Given the description of an element on the screen output the (x, y) to click on. 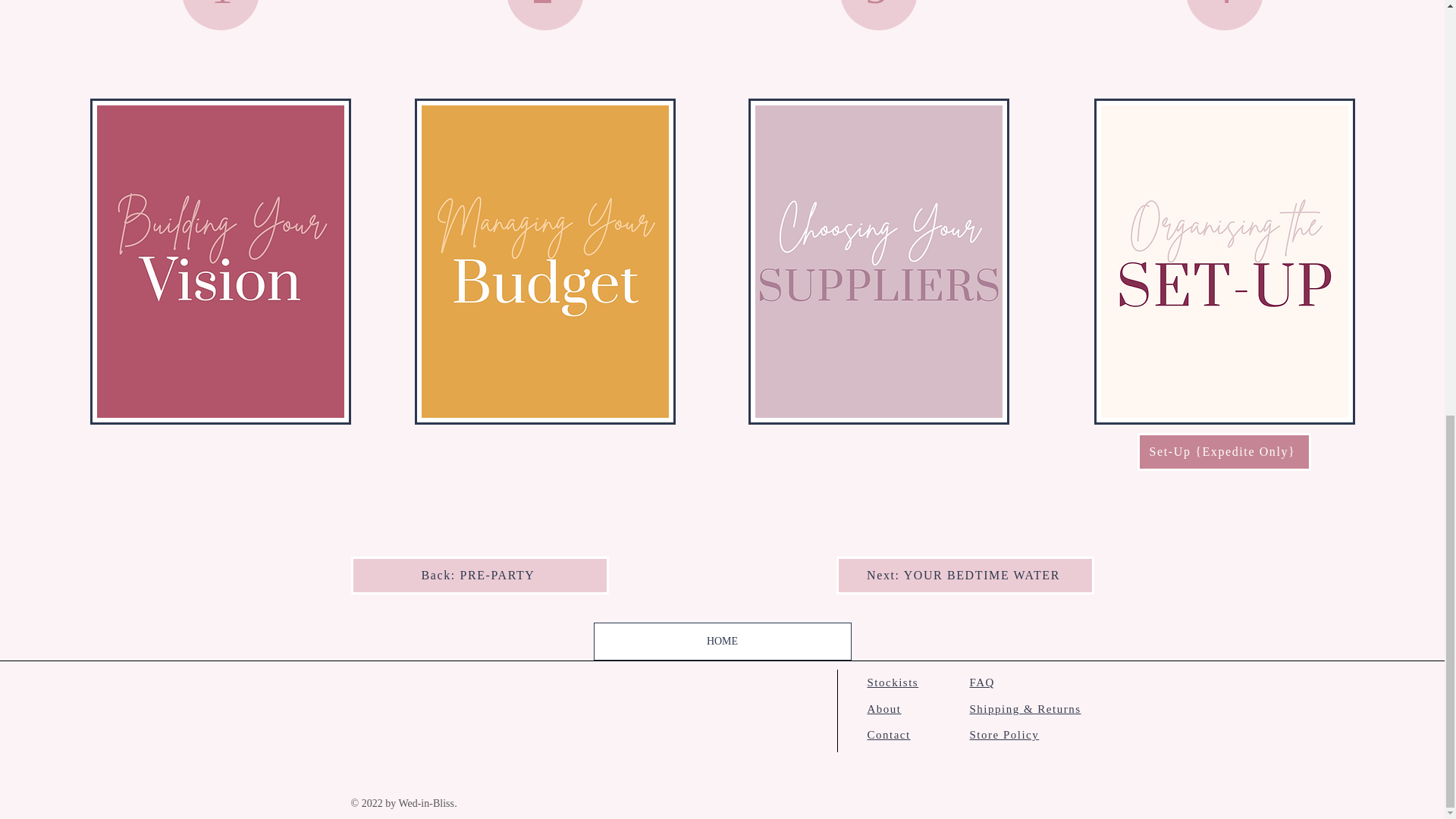
Back: PRE-PARTY (479, 575)
About (884, 707)
Contact (889, 734)
Stockists (892, 682)
FAQ (981, 682)
Next: YOUR BEDTIME WATER (964, 575)
HOME (721, 641)
Store Policy (1004, 734)
